Given the description of an element on the screen output the (x, y) to click on. 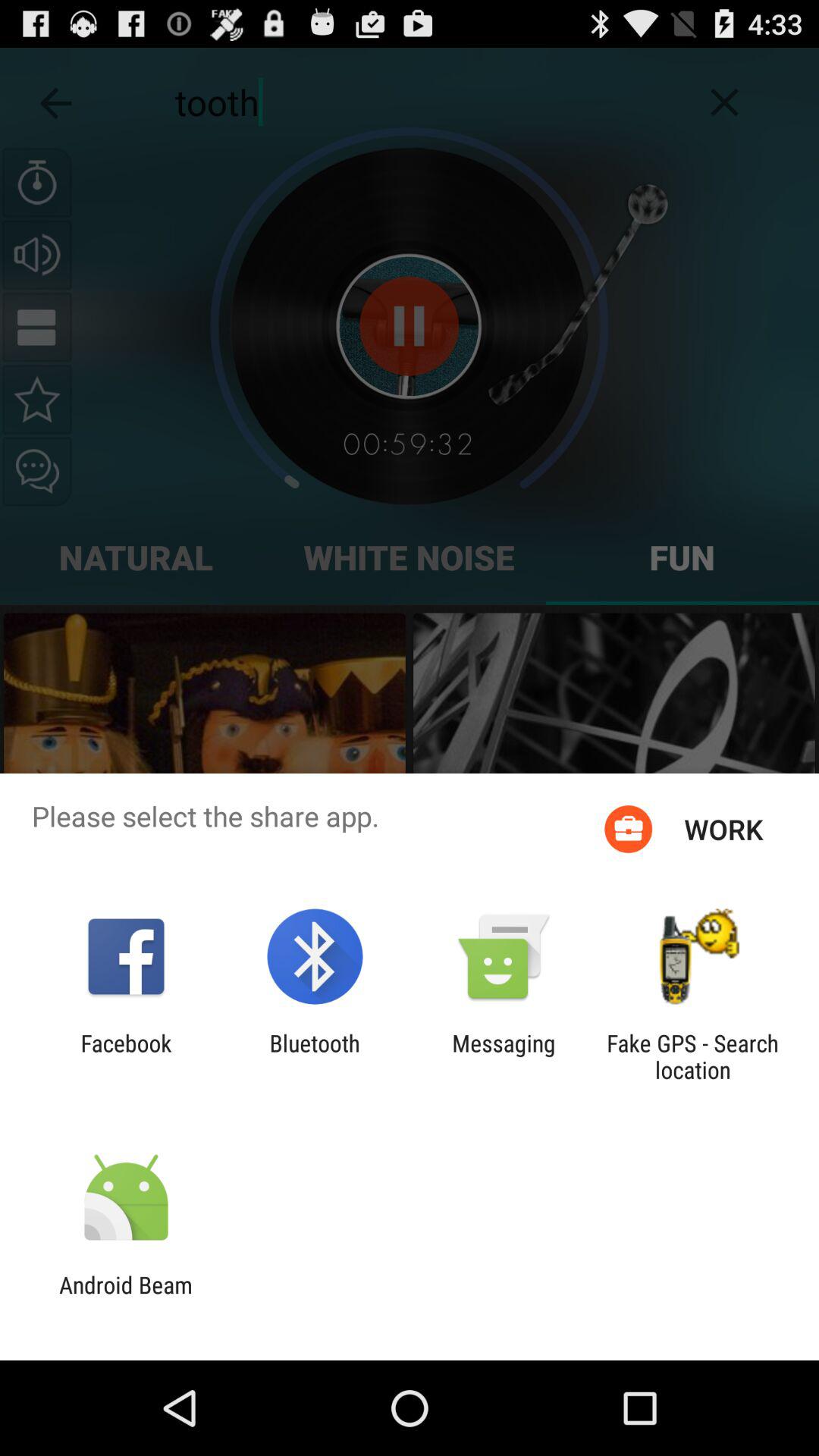
click bluetooth icon (314, 1056)
